Given the description of an element on the screen output the (x, y) to click on. 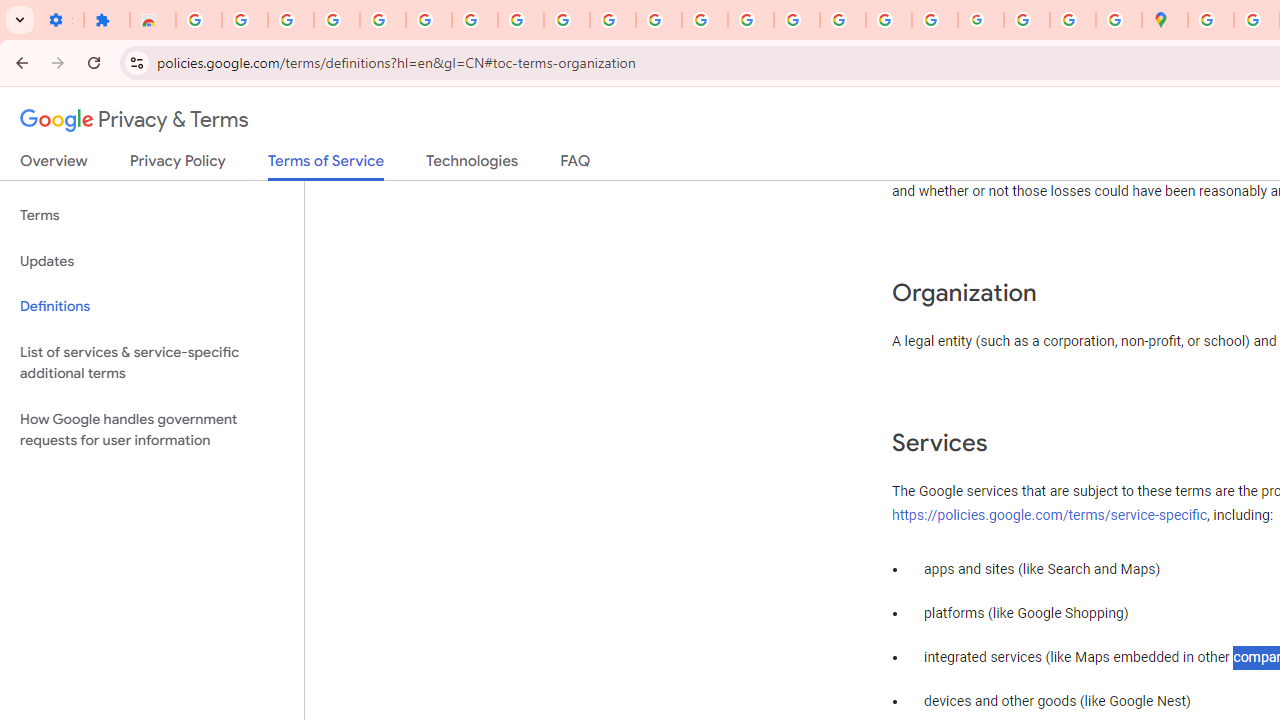
https://policies.google.com/terms/service-specific (1050, 515)
Extensions (107, 20)
FAQ (575, 165)
Terms (152, 215)
Learn how to find your photos - Google Photos Help (290, 20)
How Google handles government requests for user information (152, 429)
Overview (54, 165)
Privacy Help Center - Policies Help (797, 20)
Updates (152, 261)
